Given the description of an element on the screen output the (x, y) to click on. 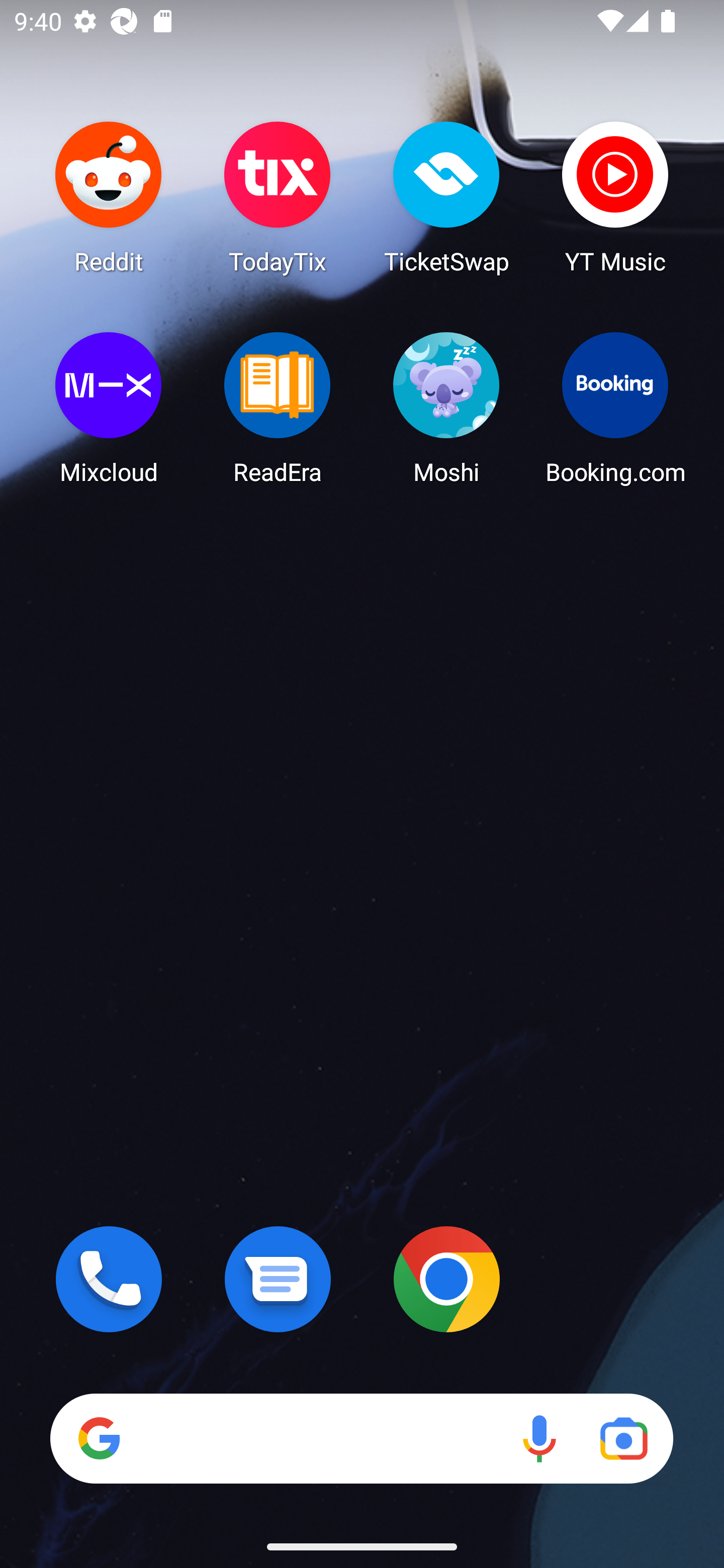
Reddit (108, 196)
TodayTix (277, 196)
TicketSwap (445, 196)
YT Music (615, 196)
Mixcloud (108, 407)
ReadEra (277, 407)
Moshi (445, 407)
Booking.com (615, 407)
Phone (108, 1279)
Messages (277, 1279)
Chrome (446, 1279)
Search Voice search Google Lens (361, 1438)
Voice search (539, 1438)
Google Lens (623, 1438)
